Given the description of an element on the screen output the (x, y) to click on. 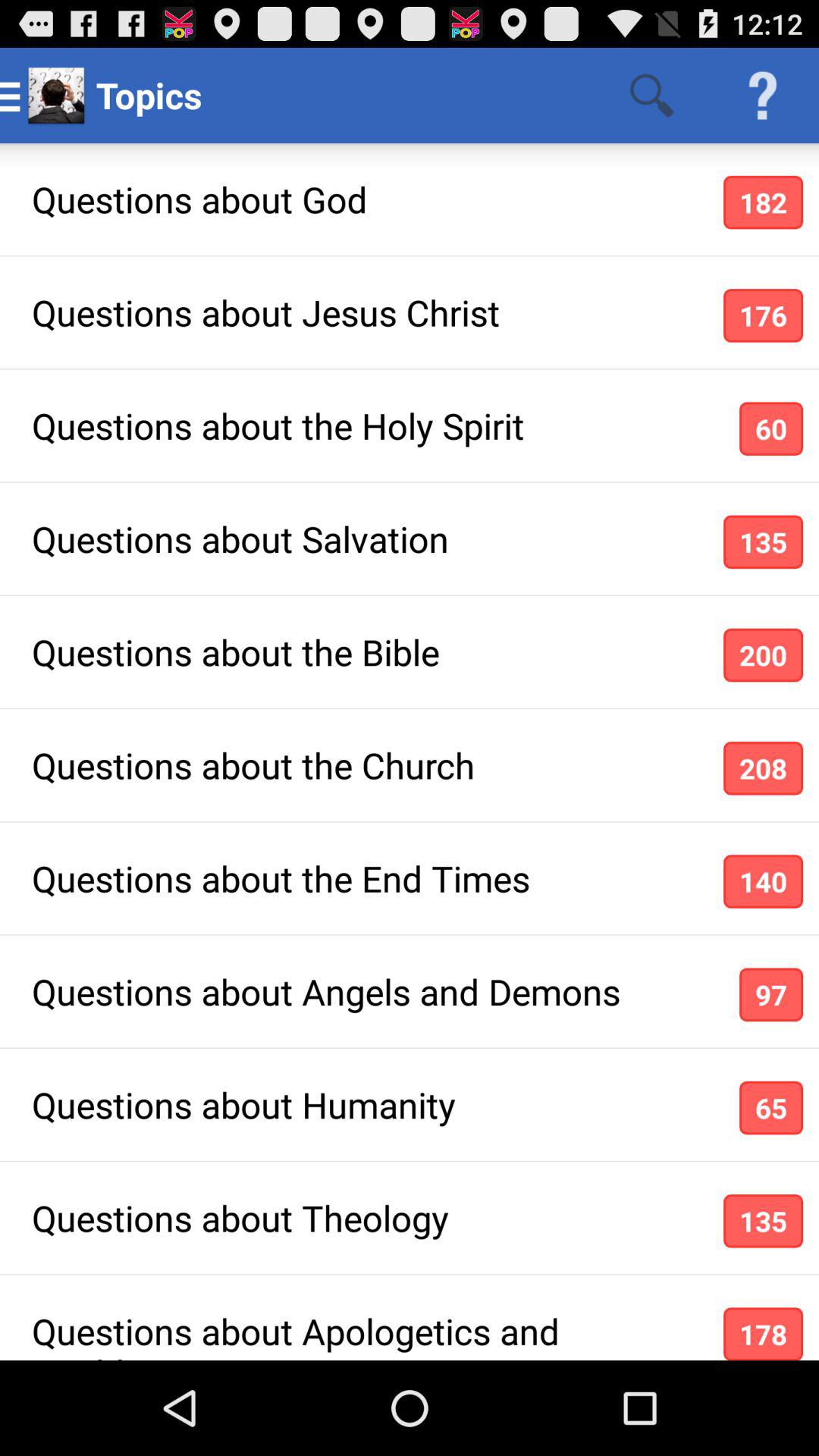
open item above questions about angels item (763, 881)
